Given the description of an element on the screen output the (x, y) to click on. 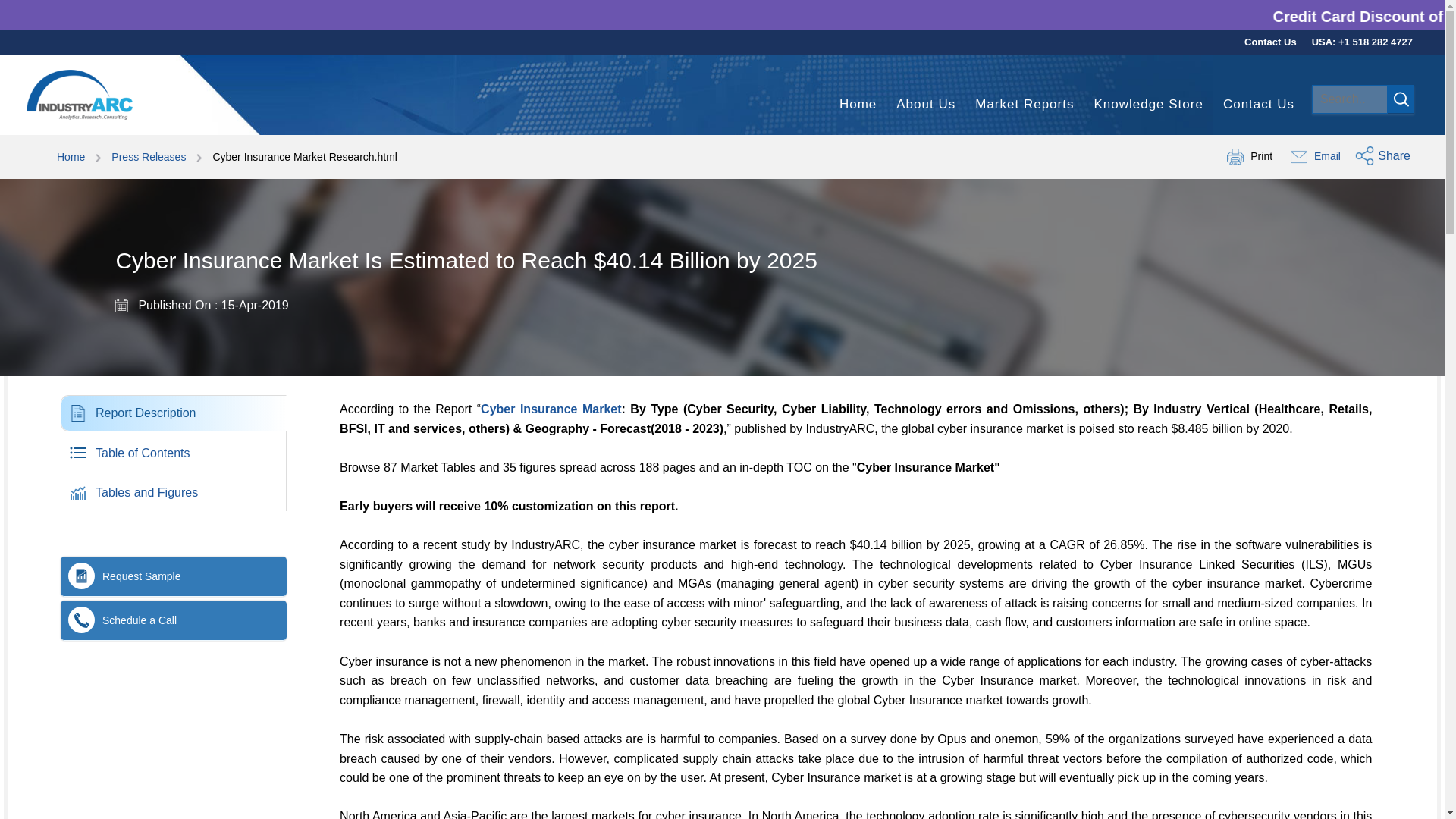
Contact Us (158, 452)
Cyber Insurance Market (1270, 42)
Home (550, 408)
Market Reports (857, 104)
About Us (1024, 104)
